Given the description of an element on the screen output the (x, y) to click on. 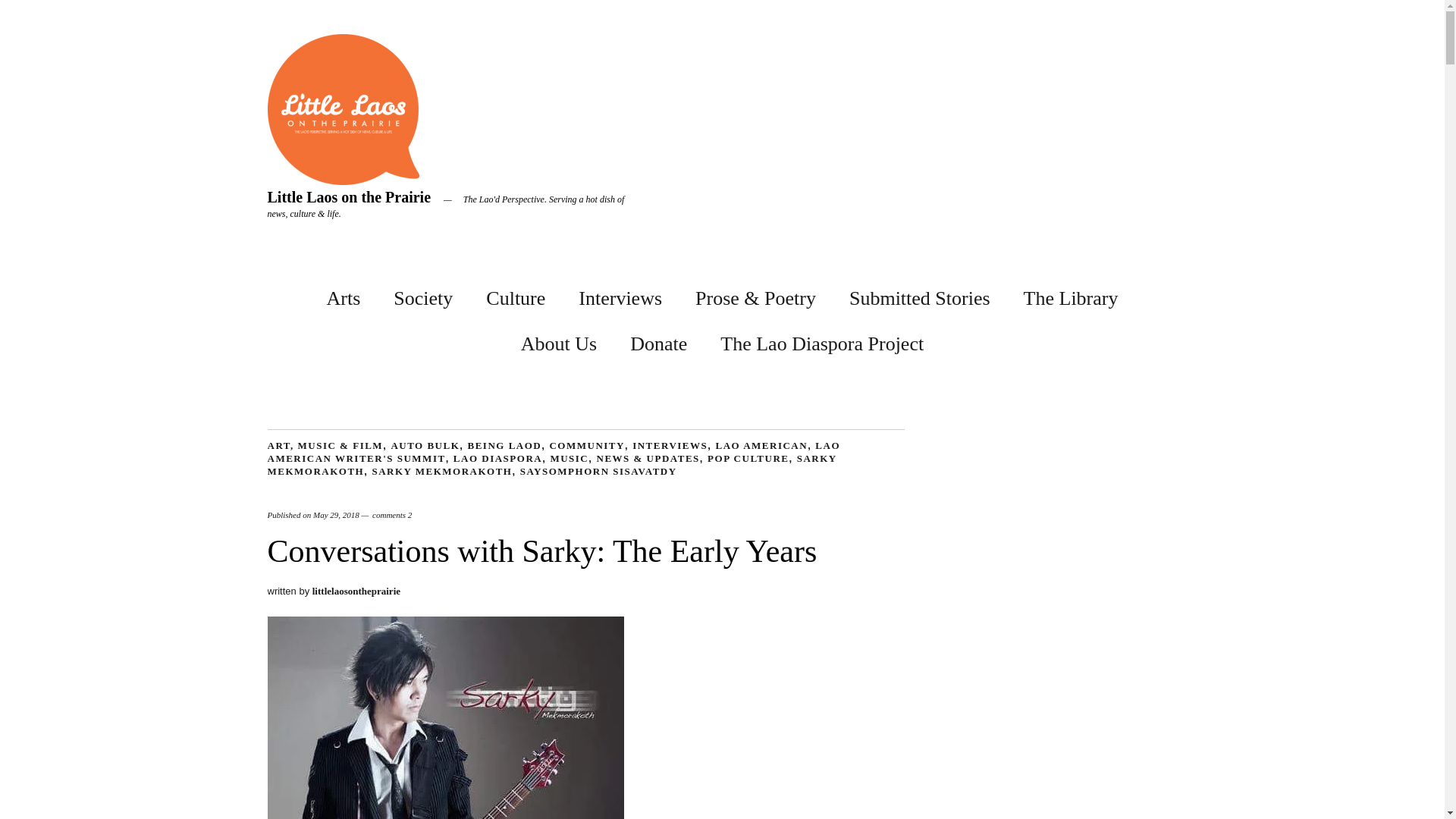
BEING LAOD (504, 445)
About Us (558, 340)
Arts (343, 294)
Donate (658, 340)
LAO AMERICAN WRITER'S SUMMIT (553, 451)
The Library (1070, 294)
Society (422, 294)
Little Laos on the Prairie (348, 197)
All posts by littlelaosontheprairie (356, 591)
The Lao Diaspora Project (821, 340)
COMMUNITY (586, 445)
comments 2 (392, 514)
MUSIC (569, 458)
SARKY MEKMORAKOTH (441, 471)
Little Laos on the Prairie (348, 197)
